Given the description of an element on the screen output the (x, y) to click on. 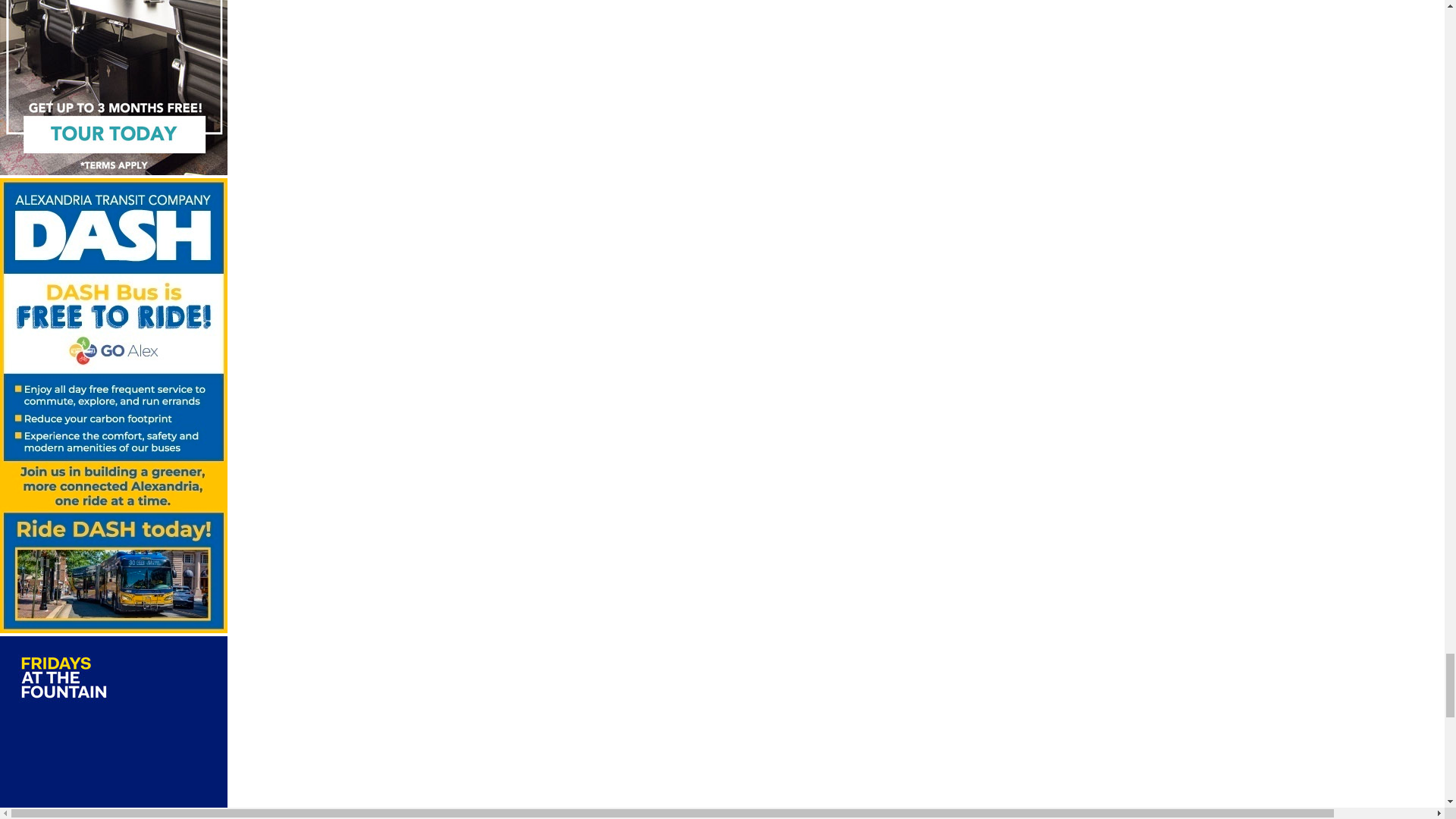
Coming to the Waterfront A (113, 89)
Fridays At The Fountain ALXnow (113, 727)
